Given the description of an element on the screen output the (x, y) to click on. 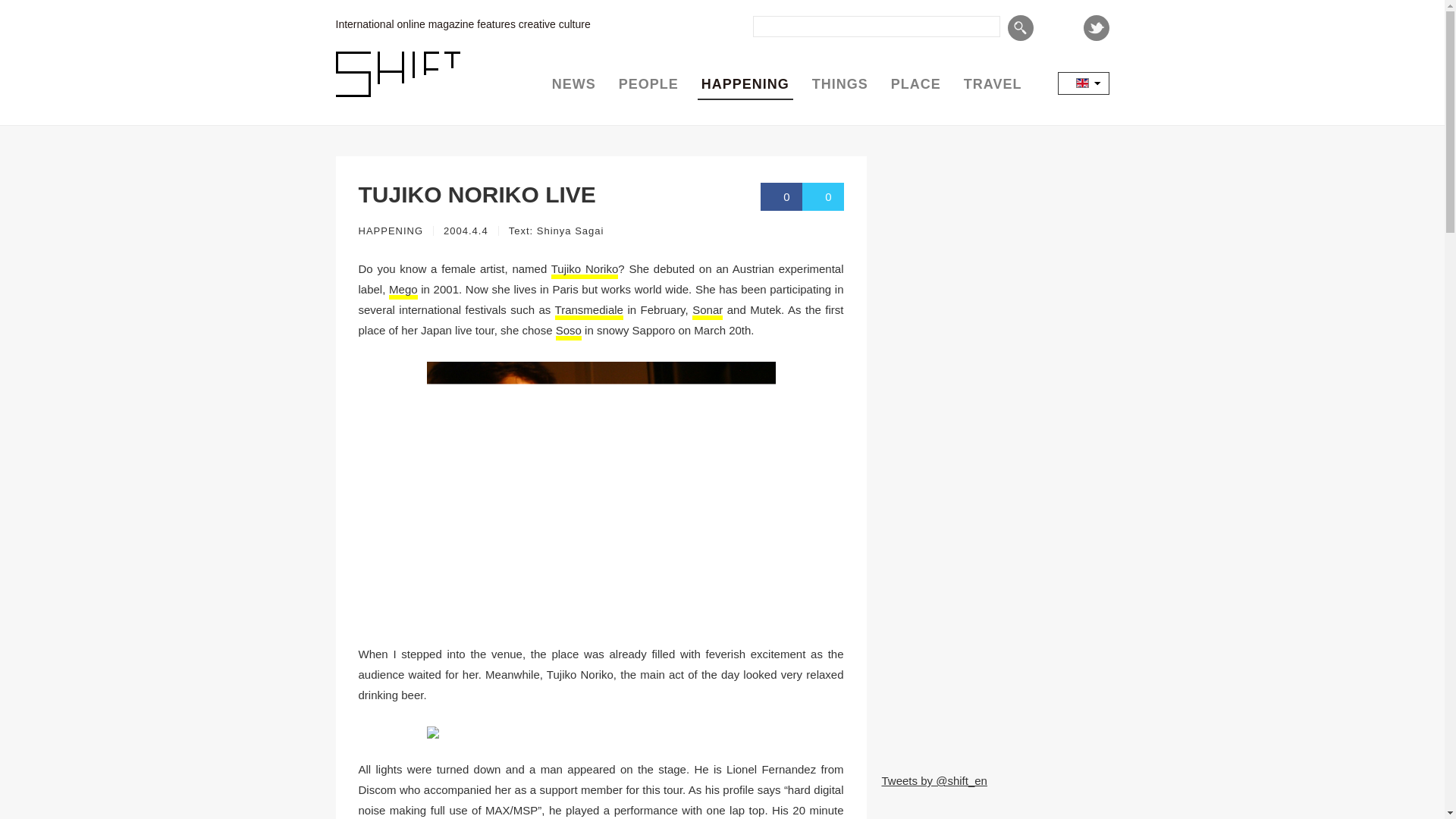
Soso (568, 330)
HAPPENING (390, 230)
0 (781, 196)
0 (823, 196)
Sonar (707, 310)
Tujiko Noriko (584, 269)
HAPPENING (745, 84)
PEOPLE (648, 84)
NEWS (573, 84)
TRAVEL (992, 84)
